Given the description of an element on the screen output the (x, y) to click on. 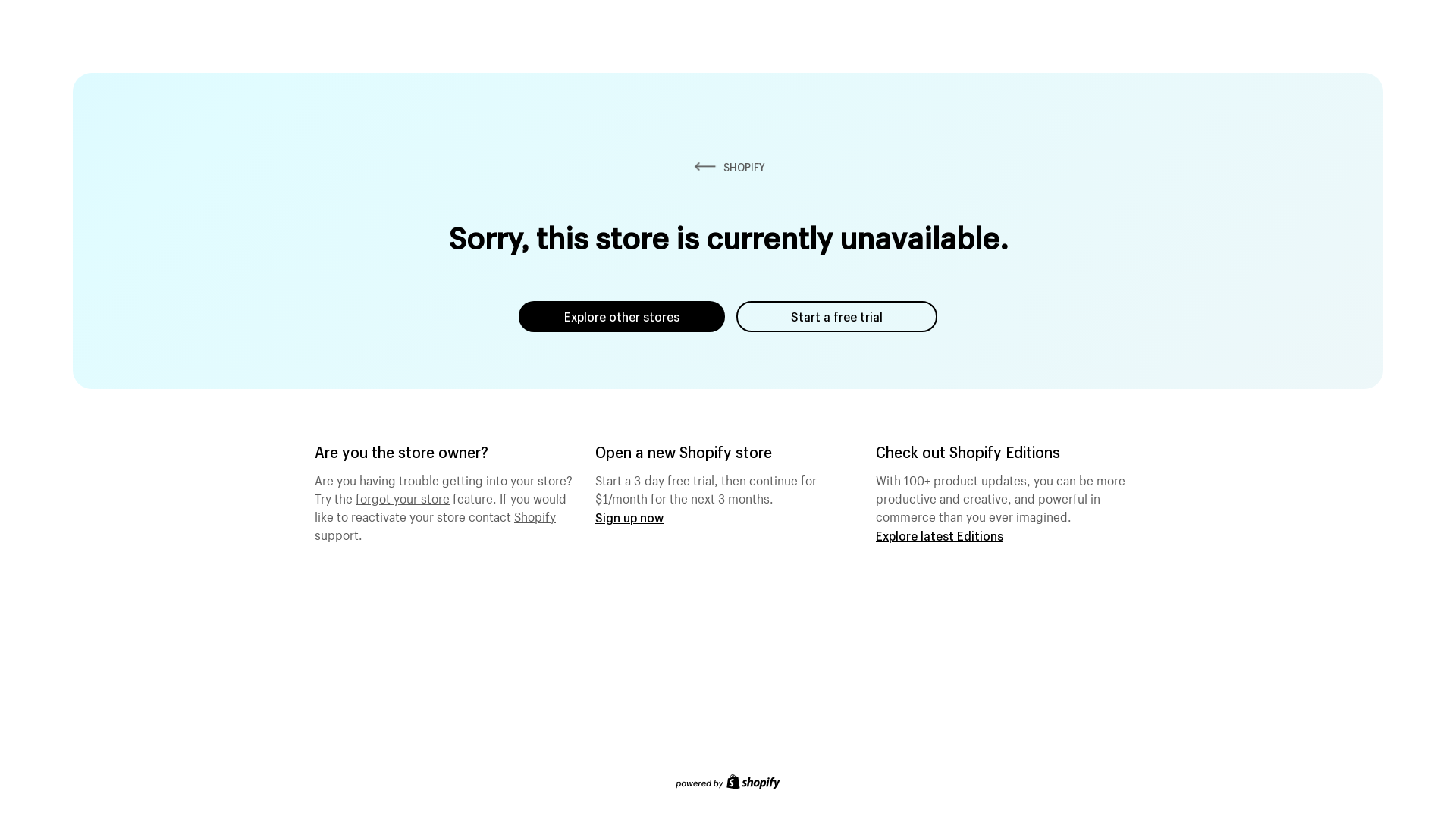
Sign up now Element type: text (629, 517)
forgot your store Element type: text (402, 496)
Shopify support Element type: text (434, 523)
SHOPIFY Element type: text (727, 167)
Explore latest Editions Element type: text (939, 535)
Explore other stores Element type: text (621, 316)
Start a free trial Element type: text (836, 316)
